Given the description of an element on the screen output the (x, y) to click on. 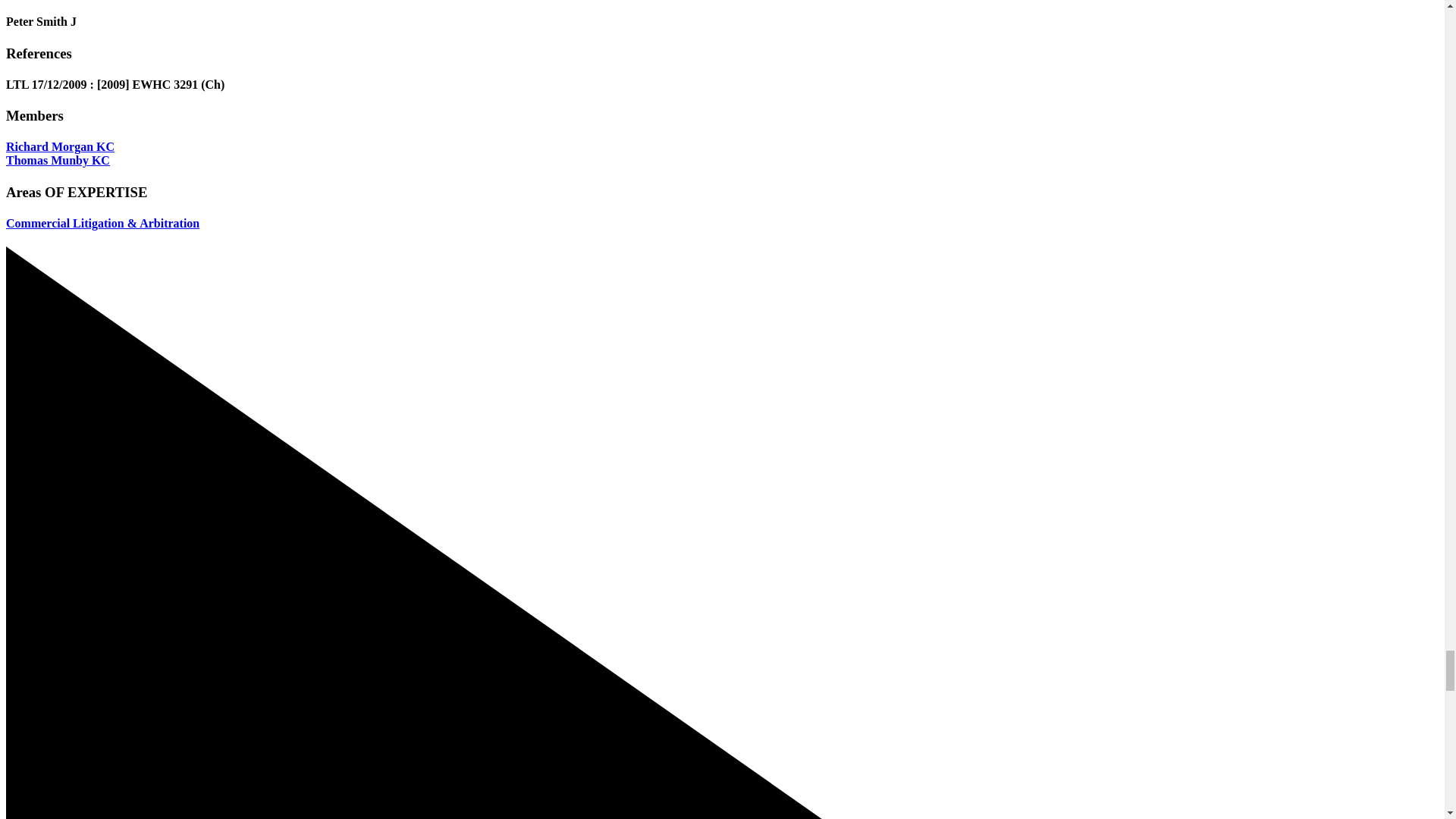
Richard Morgan KC (60, 146)
Thomas Munby KC (57, 160)
